Given the description of an element on the screen output the (x, y) to click on. 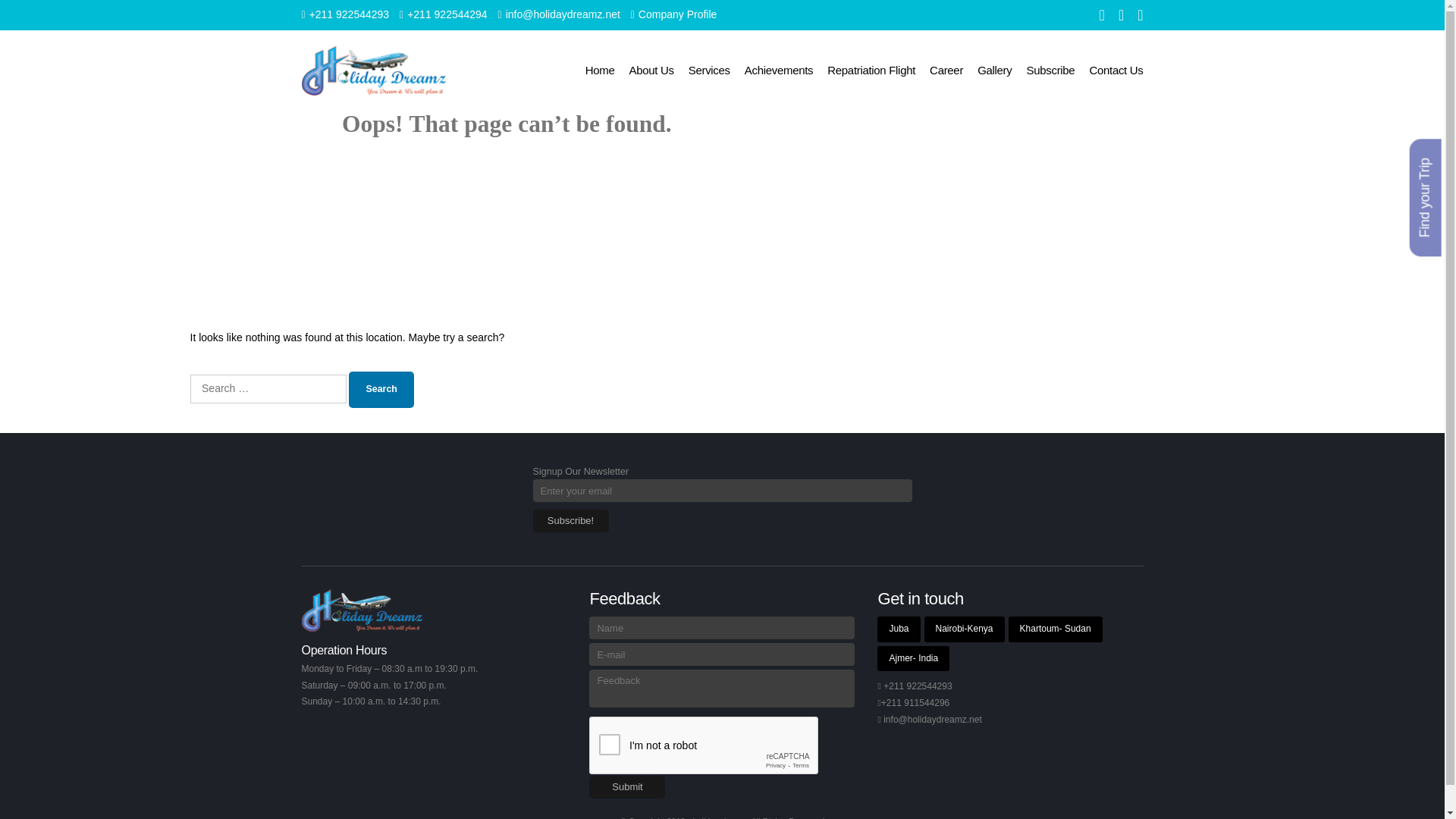
Subscribe! (570, 520)
Achievements (778, 69)
Contact Us (1115, 69)
Repatriation Flight (871, 69)
Juba (898, 629)
Subscribe! (570, 520)
Submit (627, 786)
Home (599, 69)
Gallery (993, 69)
Search (381, 389)
Career (946, 69)
Search (381, 389)
Company Profile (673, 14)
Ajmer- India (913, 658)
reCAPTCHA (704, 745)
